Given the description of an element on the screen output the (x, y) to click on. 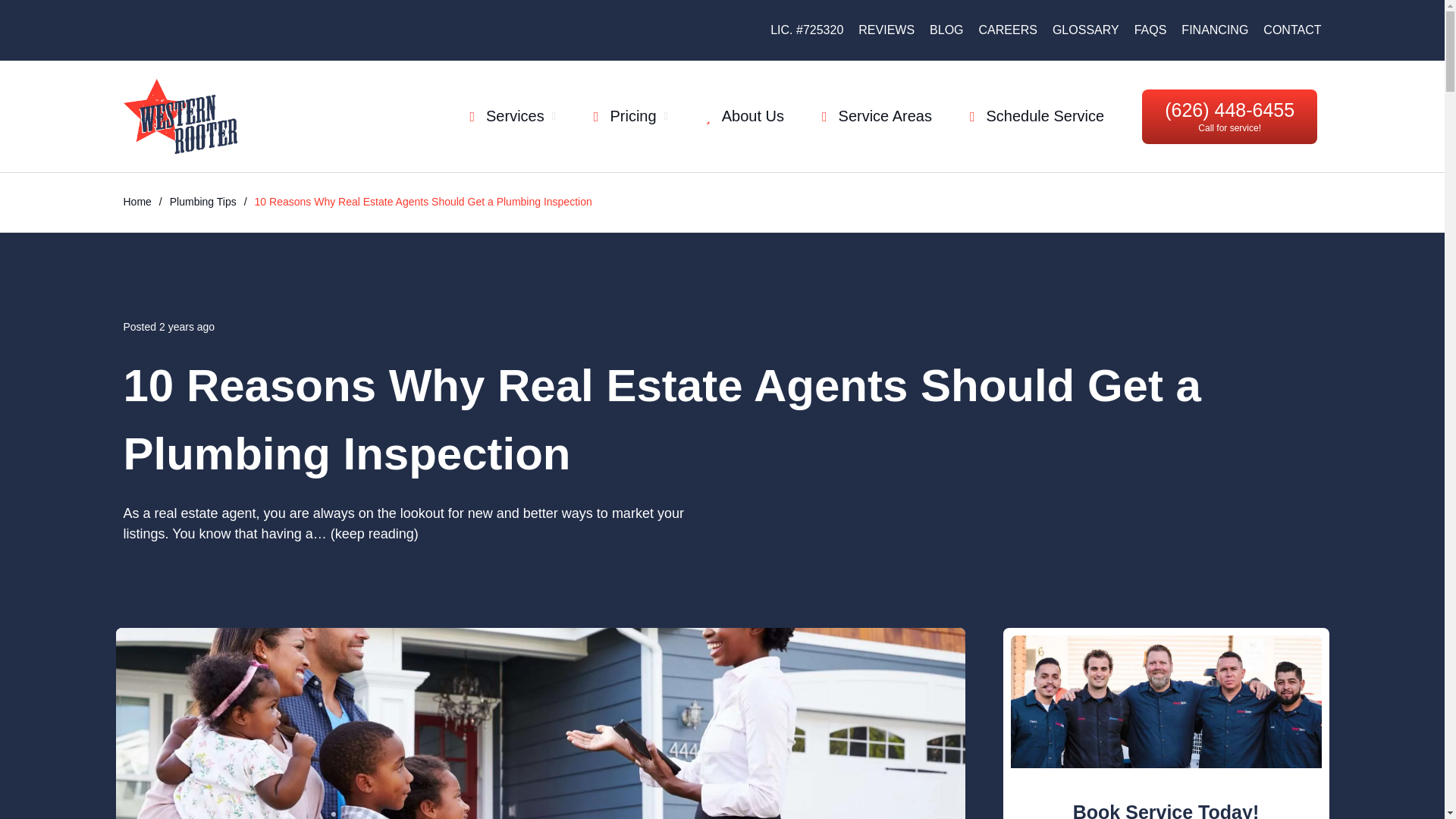
GLOSSARY (1085, 29)
BLOG (946, 29)
CAREERS (1007, 29)
FAQS (1150, 29)
REVIEWS (886, 29)
Services (511, 115)
Home (136, 201)
FINANCING (1213, 29)
Plumbing Tips (202, 201)
CONTACT (1291, 29)
